Given the description of an element on the screen output the (x, y) to click on. 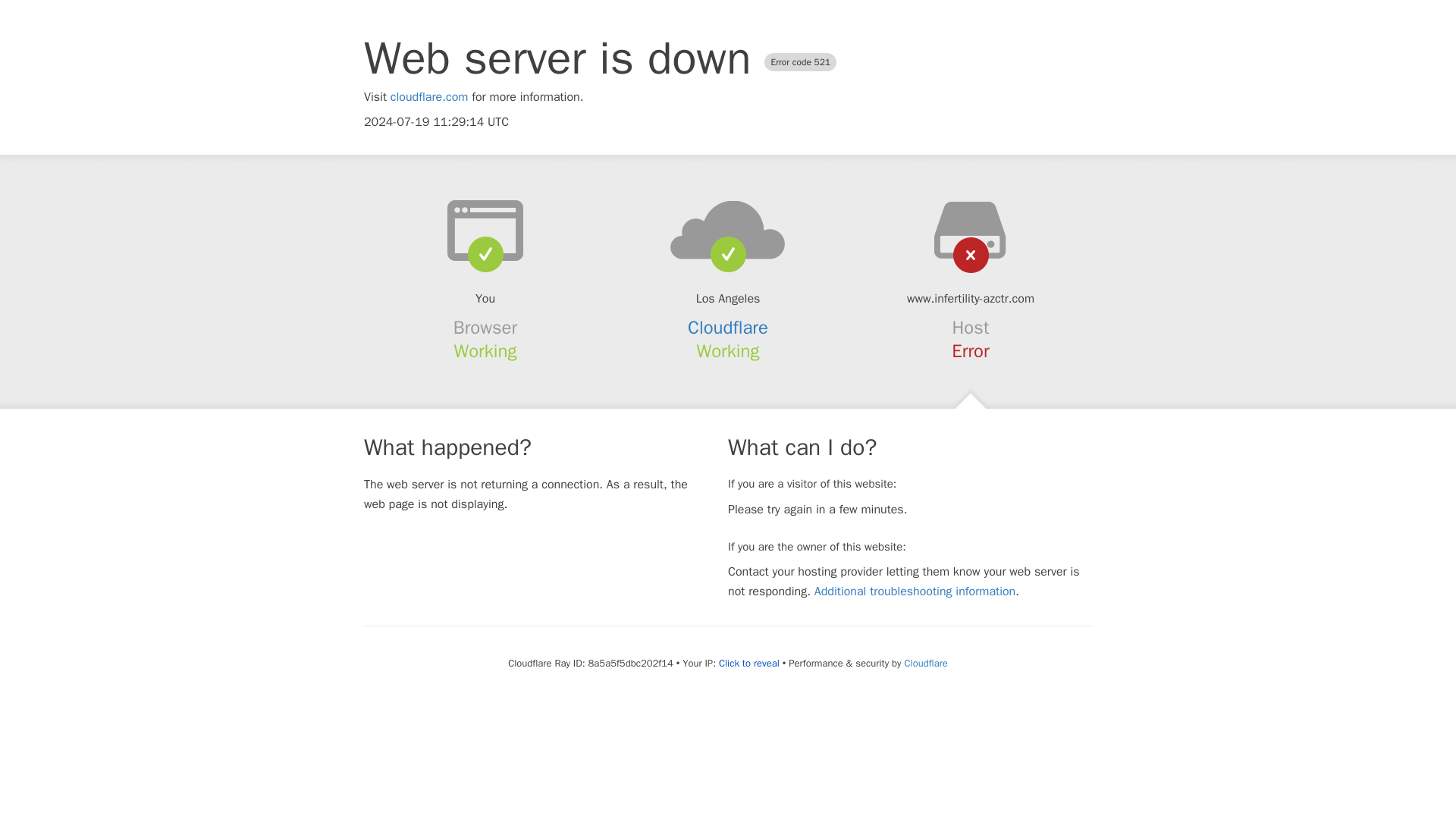
Cloudflare (925, 662)
Cloudflare (727, 327)
Additional troubleshooting information (913, 590)
cloudflare.com (429, 96)
Click to reveal (748, 663)
